Given the description of an element on the screen output the (x, y) to click on. 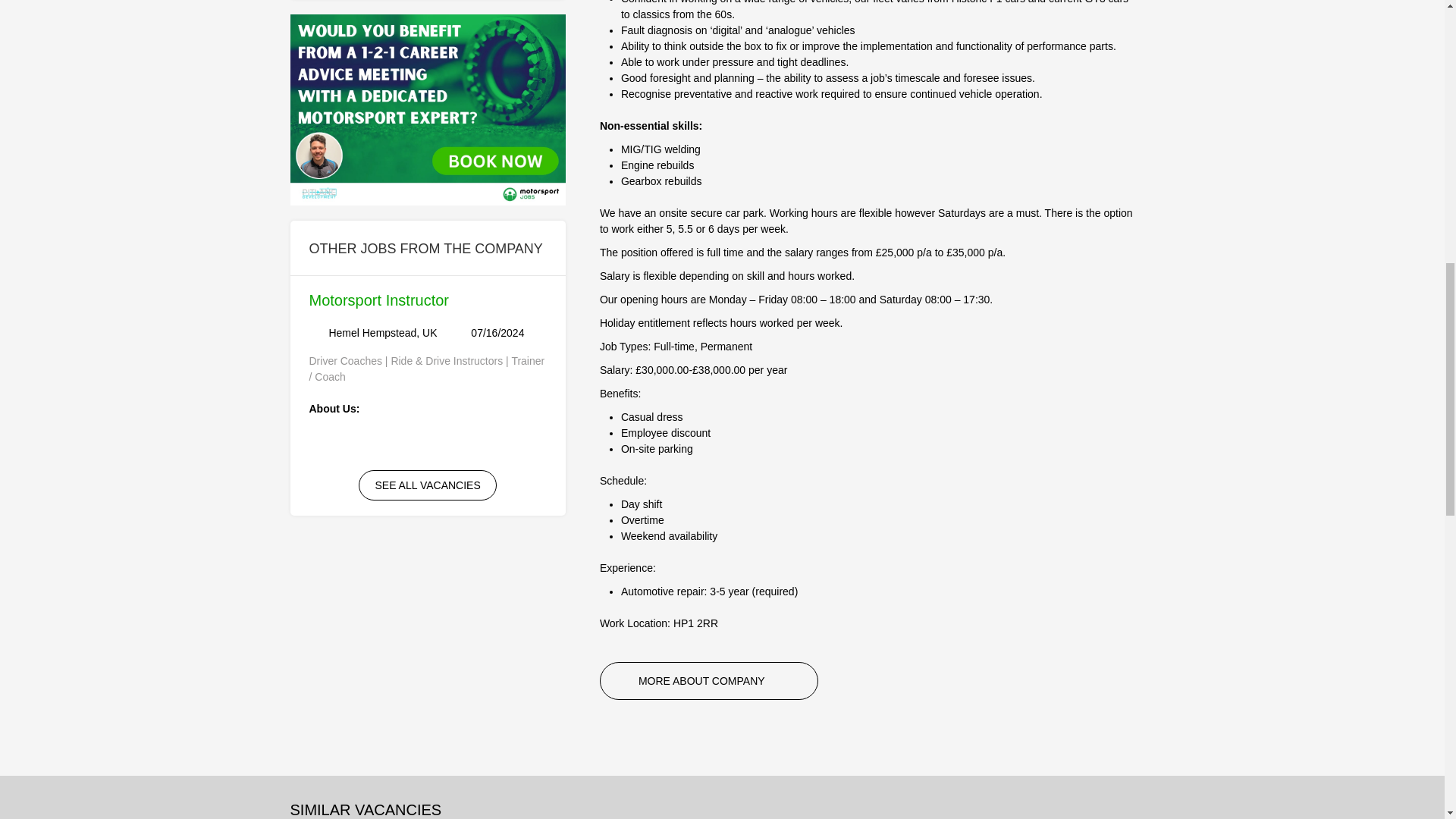
More about company (708, 680)
MORE ABOUT COMPANY (708, 680)
